Given the description of an element on the screen output the (x, y) to click on. 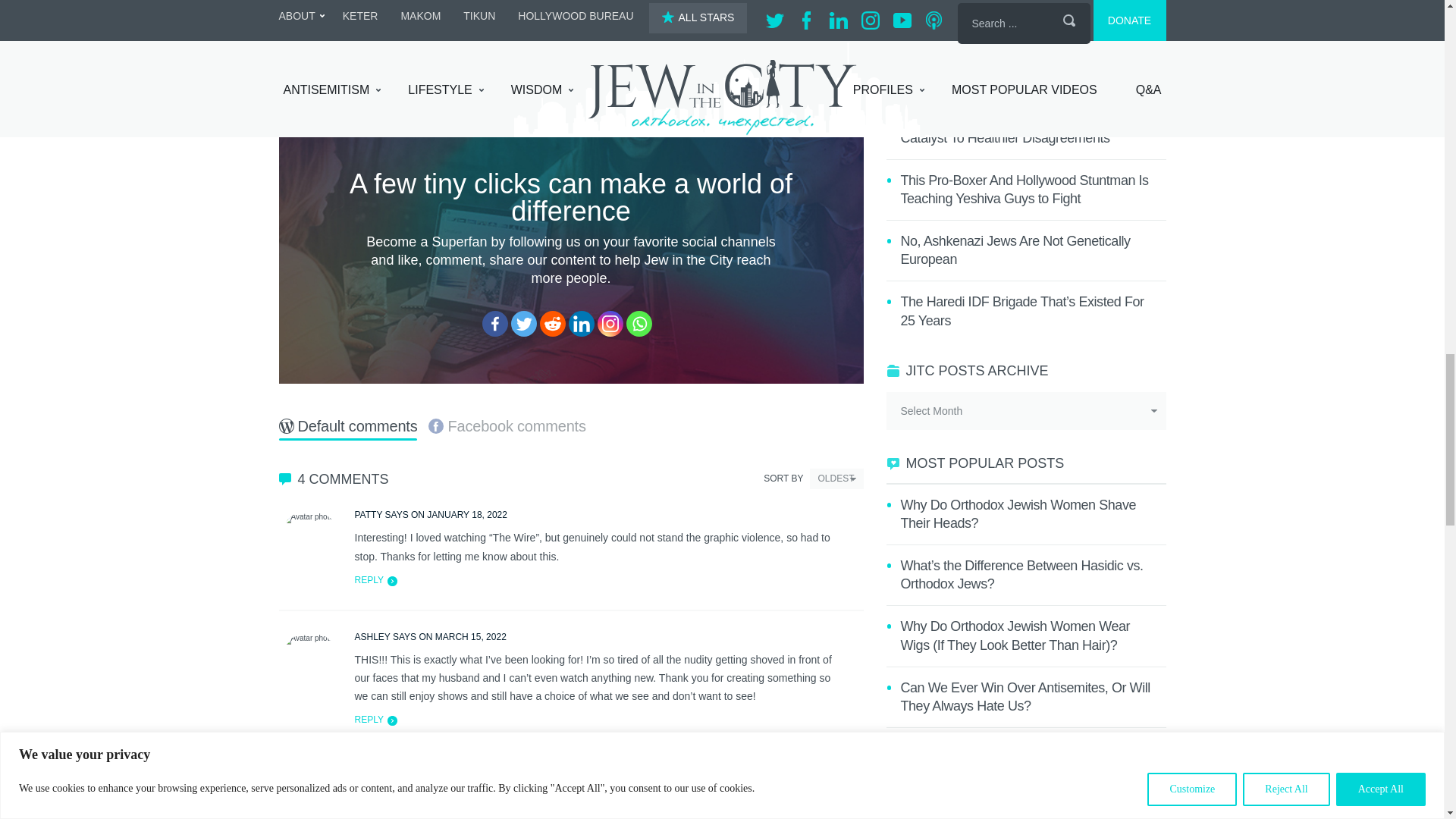
Whatsapp (639, 323)
Twitter (524, 323)
Linkedin (581, 323)
Instagram (609, 323)
Facebook (494, 323)
Reddit (553, 323)
